Given the description of an element on the screen output the (x, y) to click on. 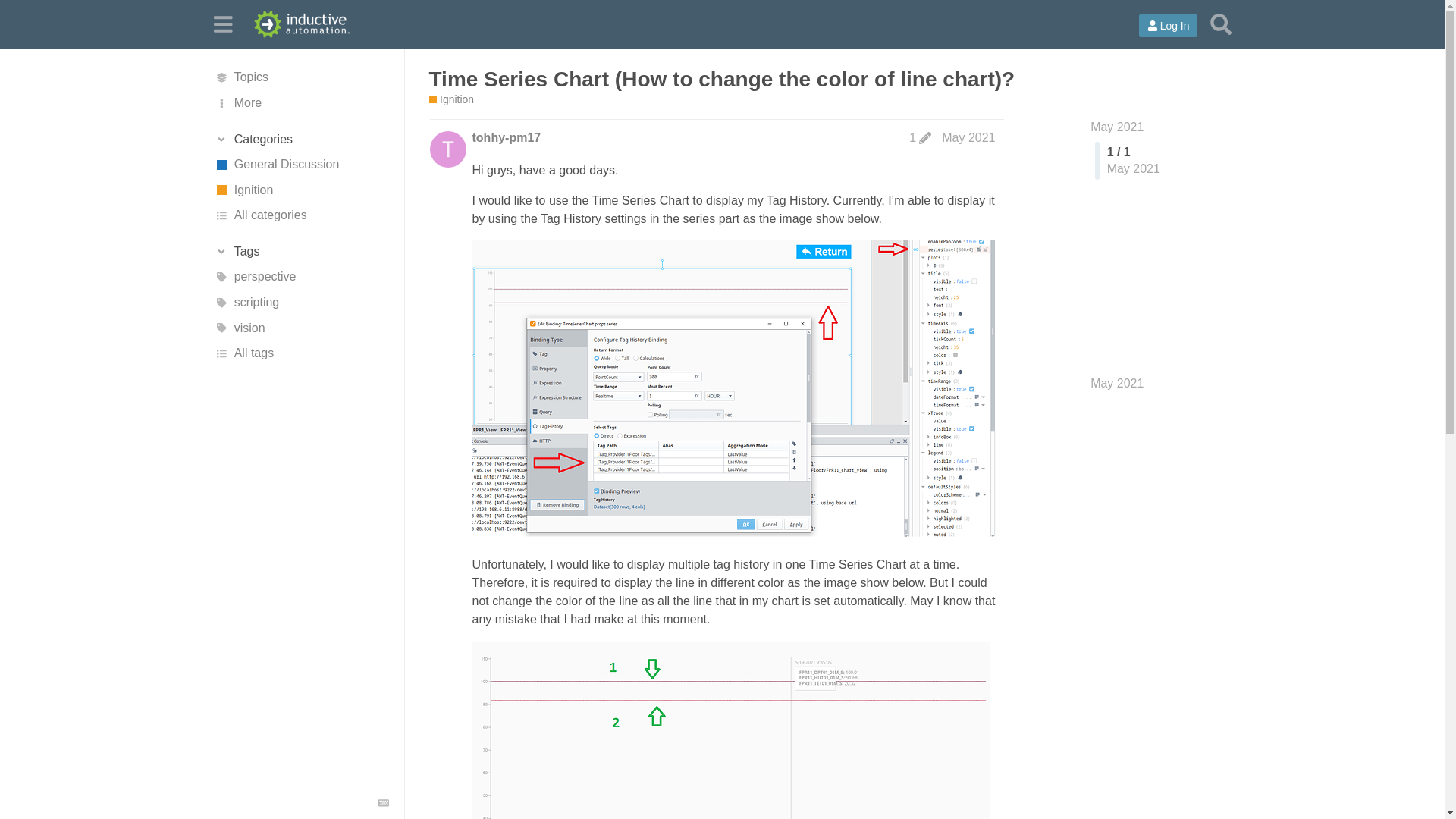
Sidebar (222, 23)
General Discussion (301, 164)
All topics (301, 77)
May 2021 (1116, 126)
Categories (301, 139)
Tags (301, 251)
perspective (301, 277)
Toggle section (301, 139)
post last edited on May 21, 2021 5:43 pm (920, 137)
More (301, 103)
scripting (301, 302)
May 2021 (968, 137)
vision (301, 328)
Log In (1168, 25)
May 2021 (1116, 383)
